Given the description of an element on the screen output the (x, y) to click on. 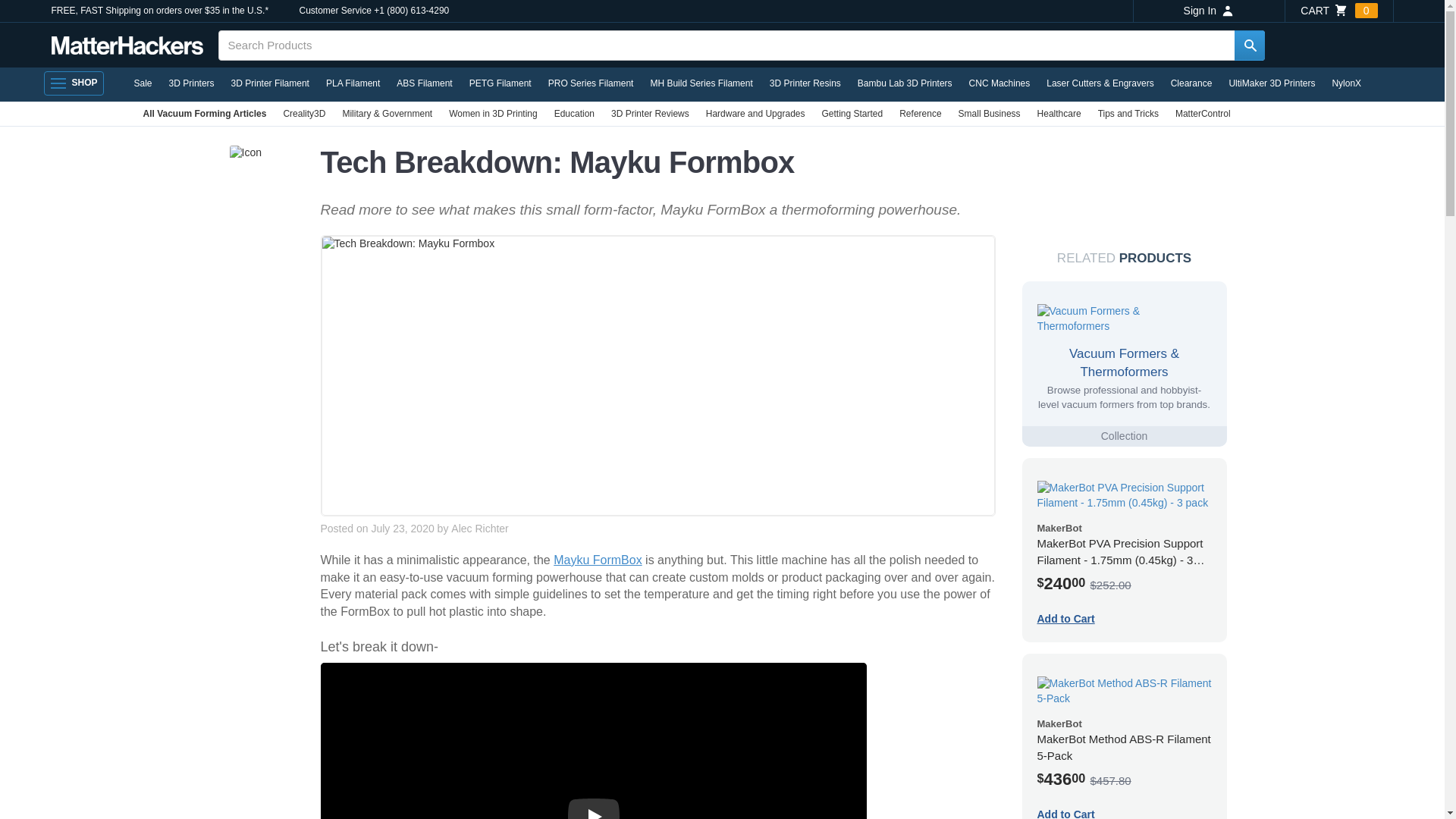
MatterHackers (126, 45)
Icon (244, 152)
Customer Service (334, 10)
CART 0 (1338, 11)
